Given the description of an element on the screen output the (x, y) to click on. 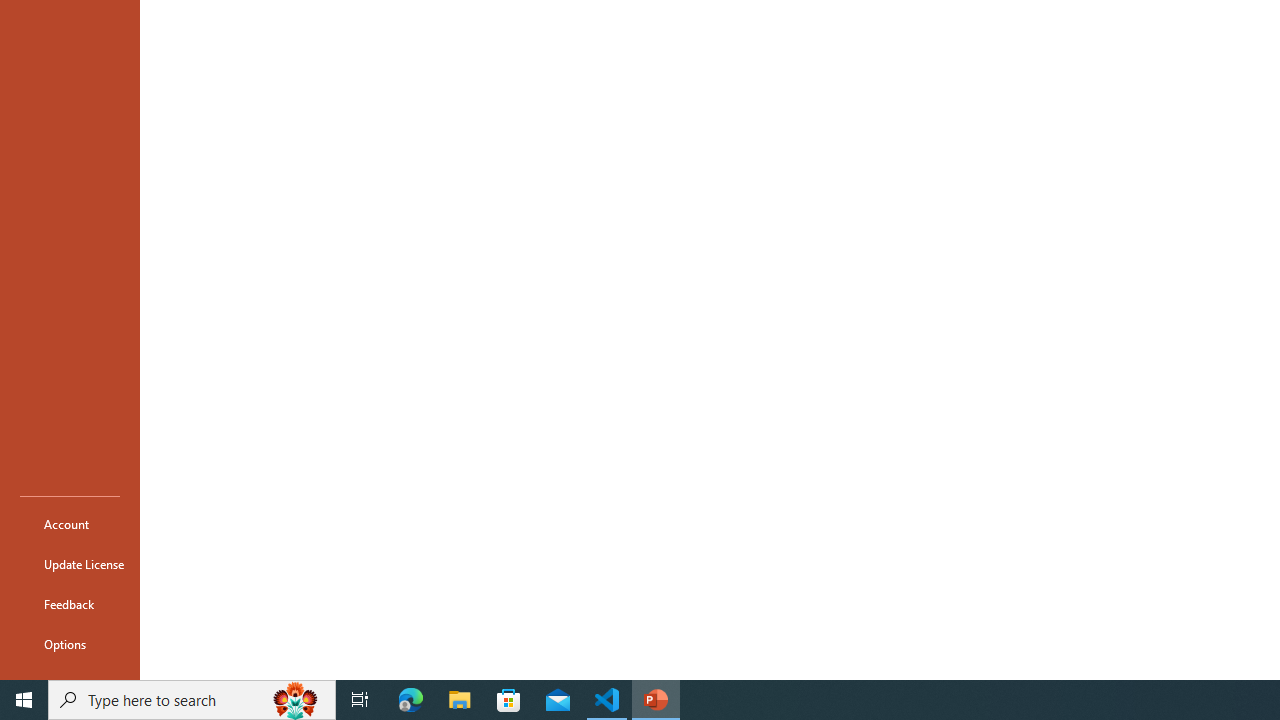
Feedback (69, 603)
Options (69, 643)
Update License (69, 563)
Account (69, 523)
